Given the description of an element on the screen output the (x, y) to click on. 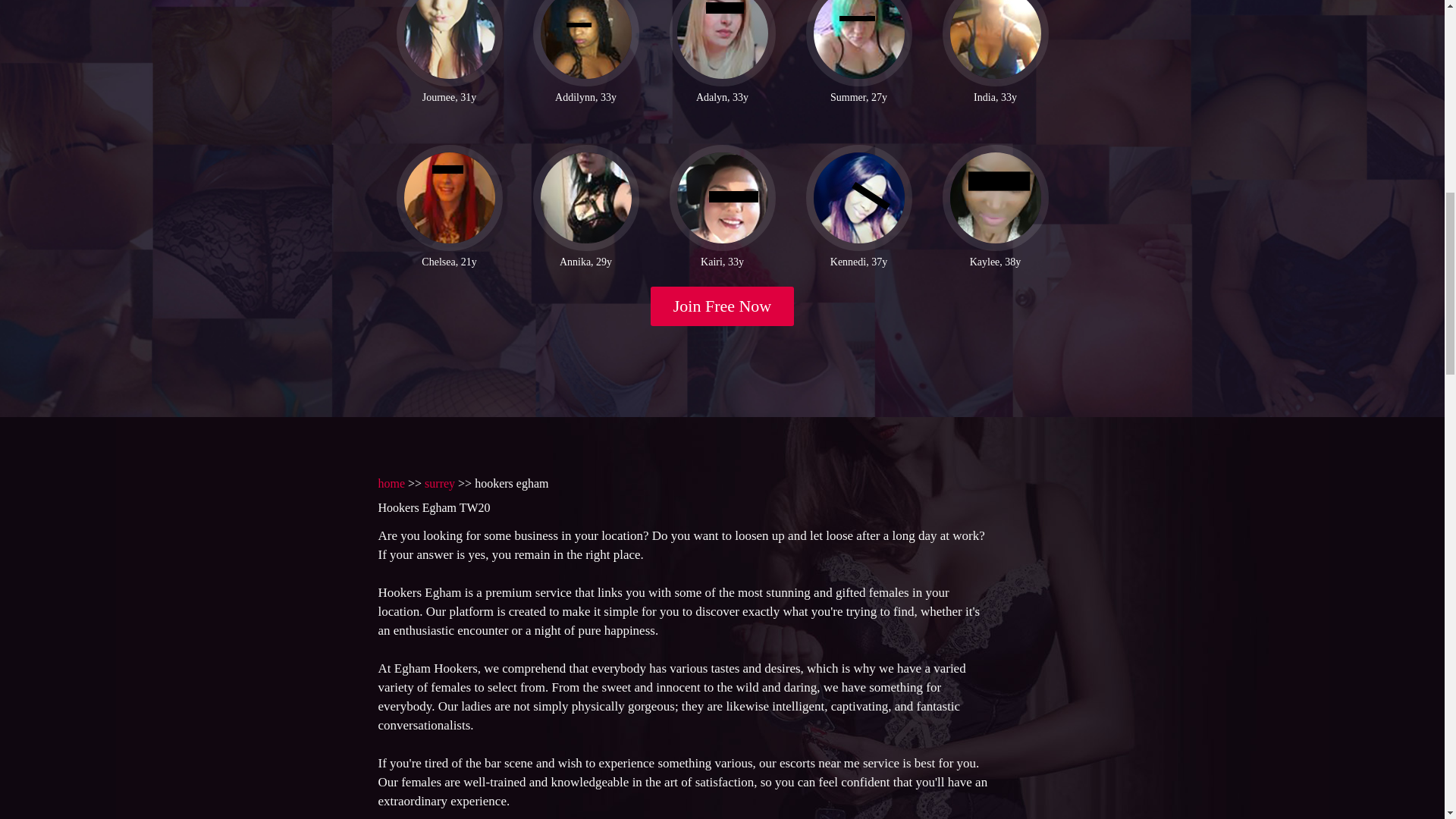
home (390, 482)
Join (722, 305)
Join Free Now (722, 305)
surrey (439, 482)
